Given the description of an element on the screen output the (x, y) to click on. 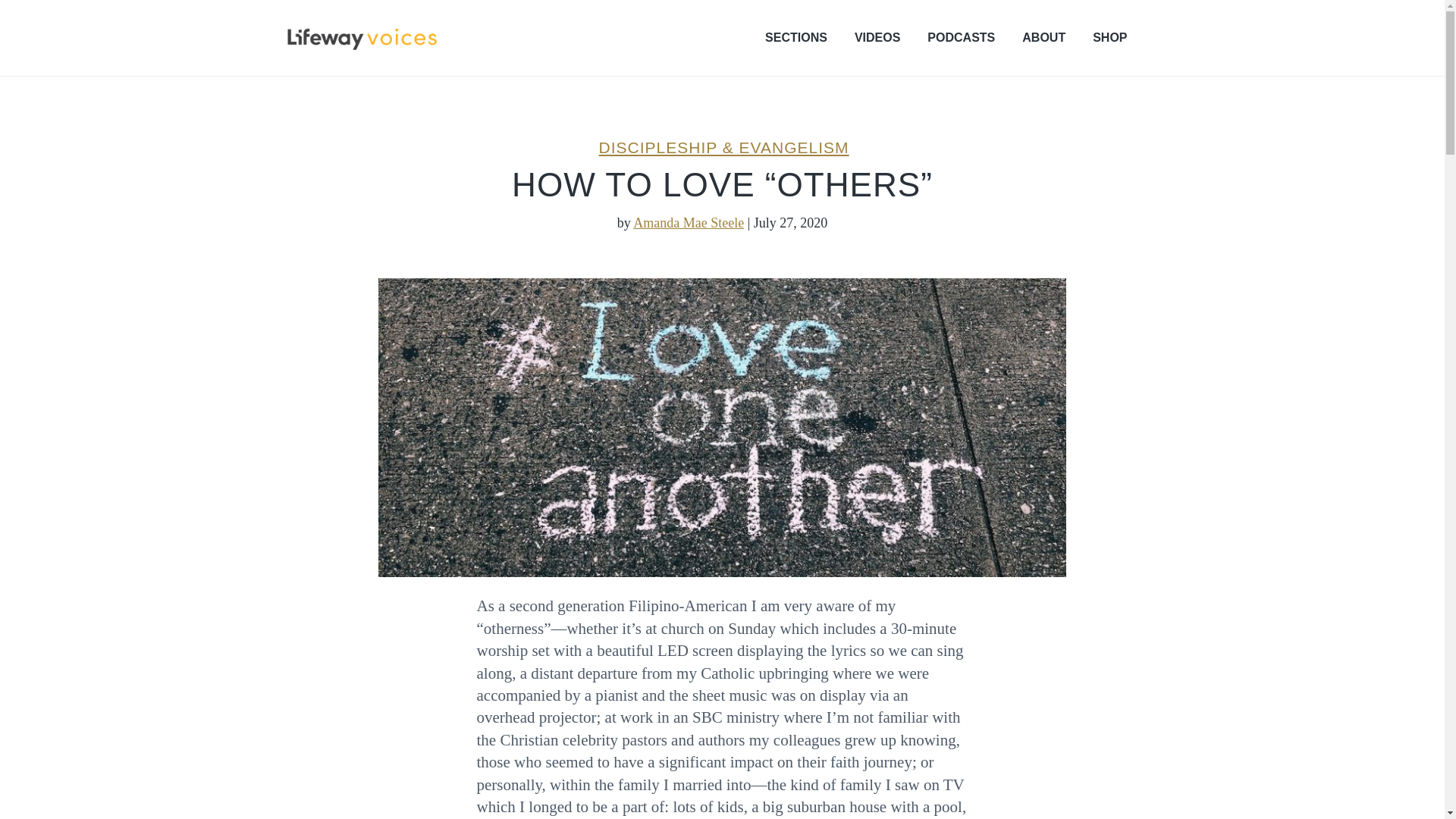
ABOUT (1043, 37)
SECTIONS (796, 37)
PODCASTS (960, 37)
Search (60, 18)
VIDEOS (876, 37)
SHOP (1109, 37)
Amanda Mae Steele (688, 222)
